Given the description of an element on the screen output the (x, y) to click on. 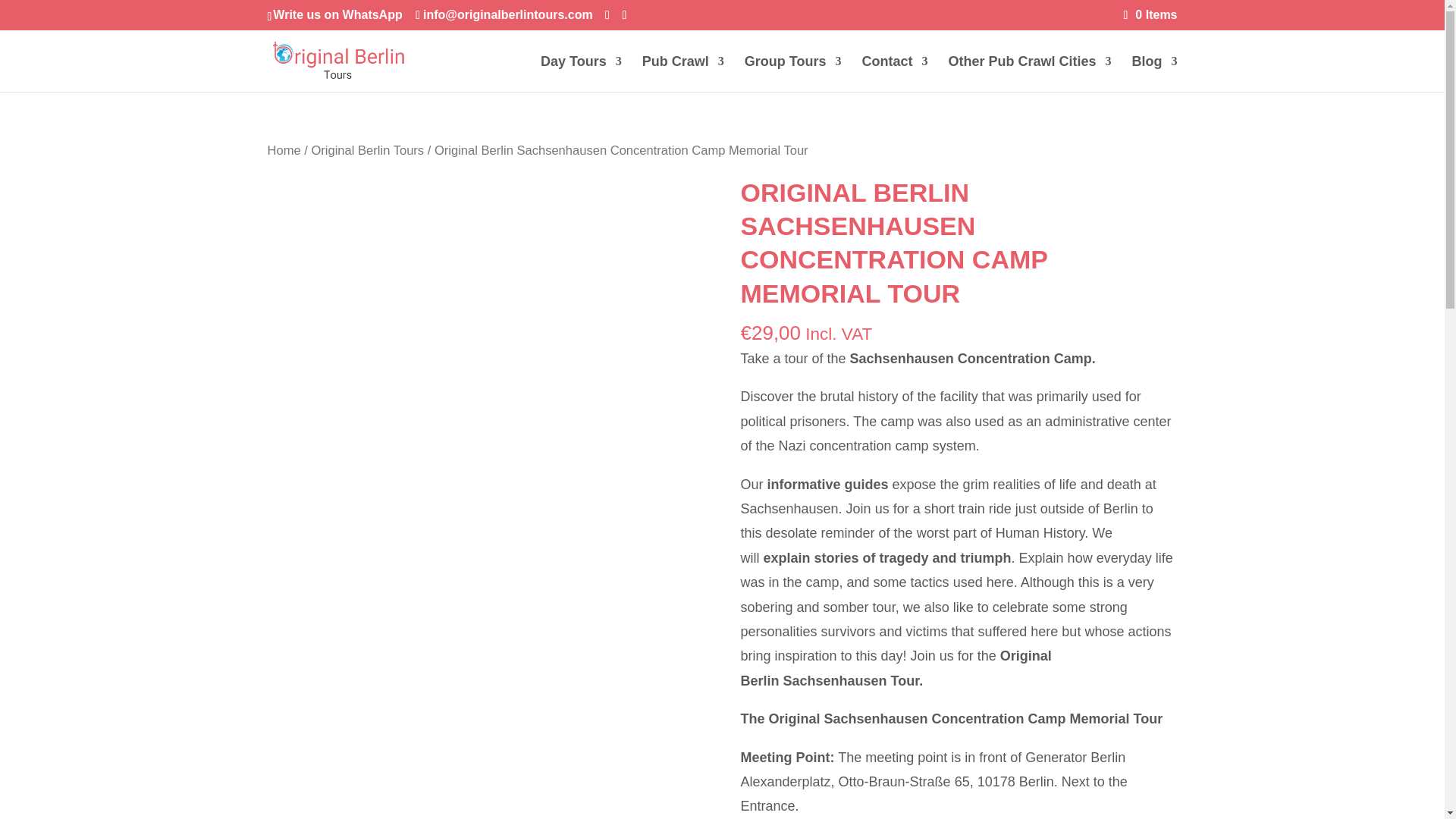
Contact (894, 73)
Write us on WhatsApp (337, 14)
Day Tours (580, 73)
Pub Crawl (682, 73)
Group Tours (792, 73)
0 Items (1150, 14)
